Given the description of an element on the screen output the (x, y) to click on. 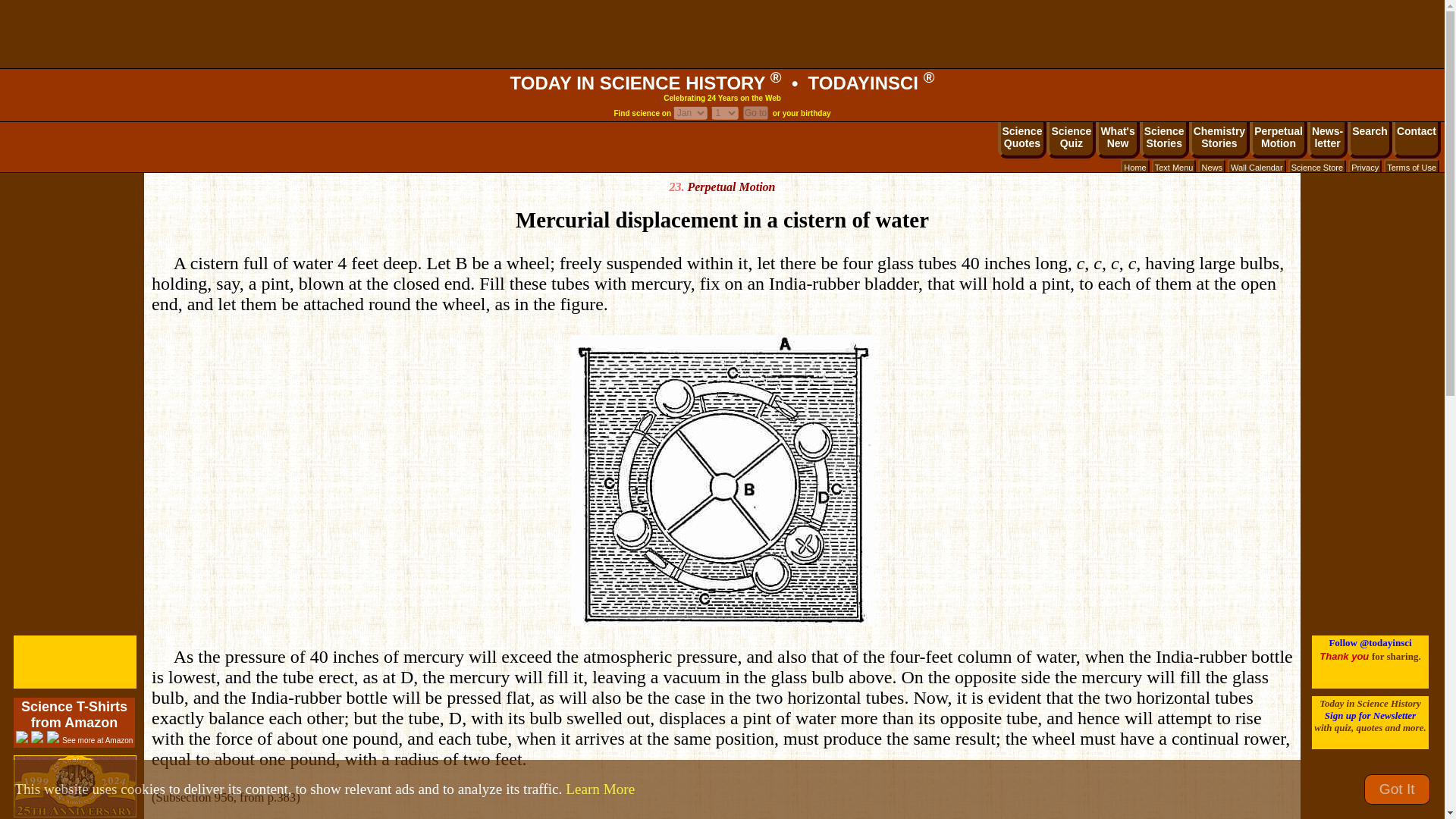
Home (1134, 167)
Select Month first (724, 112)
Privacy (1117, 140)
Home (1364, 167)
Science Store (1134, 167)
Chemistry short stories (1316, 167)
Site map (1219, 140)
Home (1173, 167)
Select Month first, and then Day (722, 82)
